Given the description of an element on the screen output the (x, y) to click on. 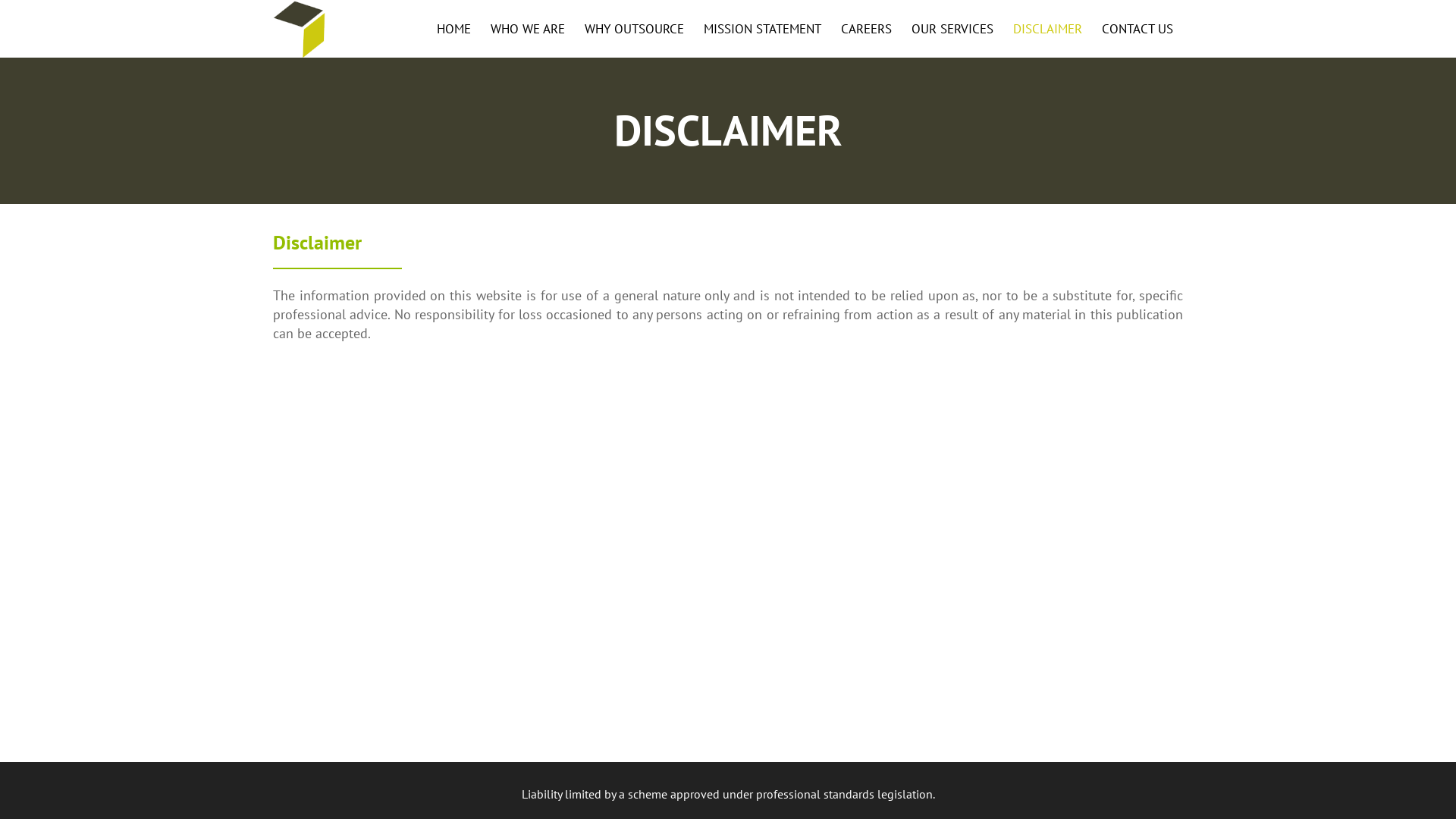
OUR SERVICES Element type: text (952, 28)
WHY OUTSOURCE Element type: text (633, 28)
DISCLAIMER Element type: text (1047, 28)
WHO WE ARE Element type: text (527, 28)
CONTACT US Element type: text (1137, 28)
CAREERS Element type: text (866, 28)
HOME Element type: text (453, 28)
MISSION STATEMENT Element type: text (762, 28)
